Given the description of an element on the screen output the (x, y) to click on. 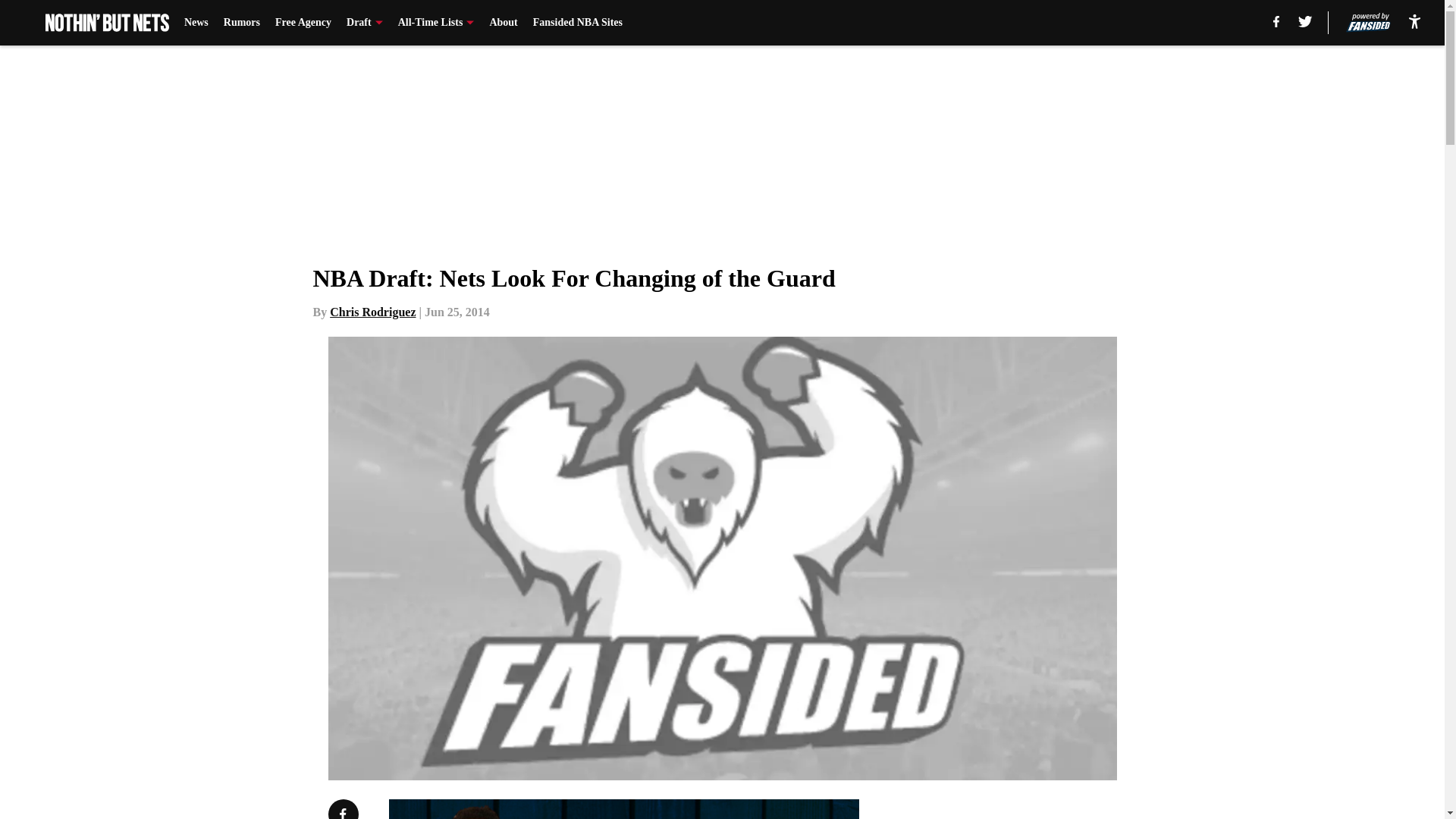
News (196, 22)
Free Agency (303, 22)
Chris Rodriguez (372, 311)
Rumors (242, 22)
About (502, 22)
Fansided NBA Sites (577, 22)
